Given the description of an element on the screen output the (x, y) to click on. 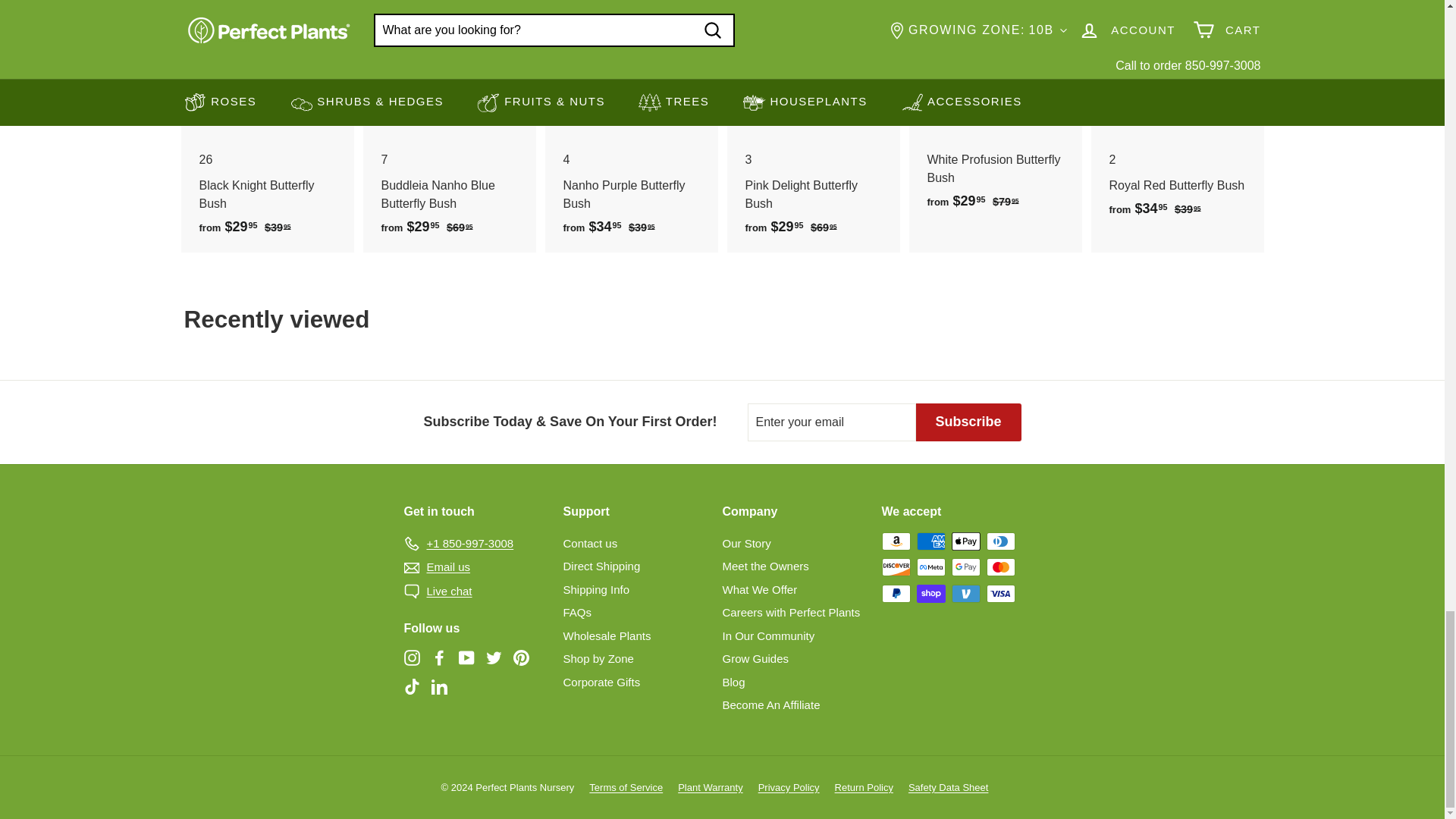
Perfect Plants Nursery on Pinterest (520, 657)
Perfect Plants Nursery on TikTok (411, 685)
Perfect Plants Nursery on YouTube (466, 657)
Perfect Plants Nursery on Facebook (438, 657)
Perfect Plants Nursery on Twitter (492, 657)
Perfect Plants Nursery on LinkedIn (438, 685)
Perfect Plants Nursery on Instagram (411, 657)
